Given the description of an element on the screen output the (x, y) to click on. 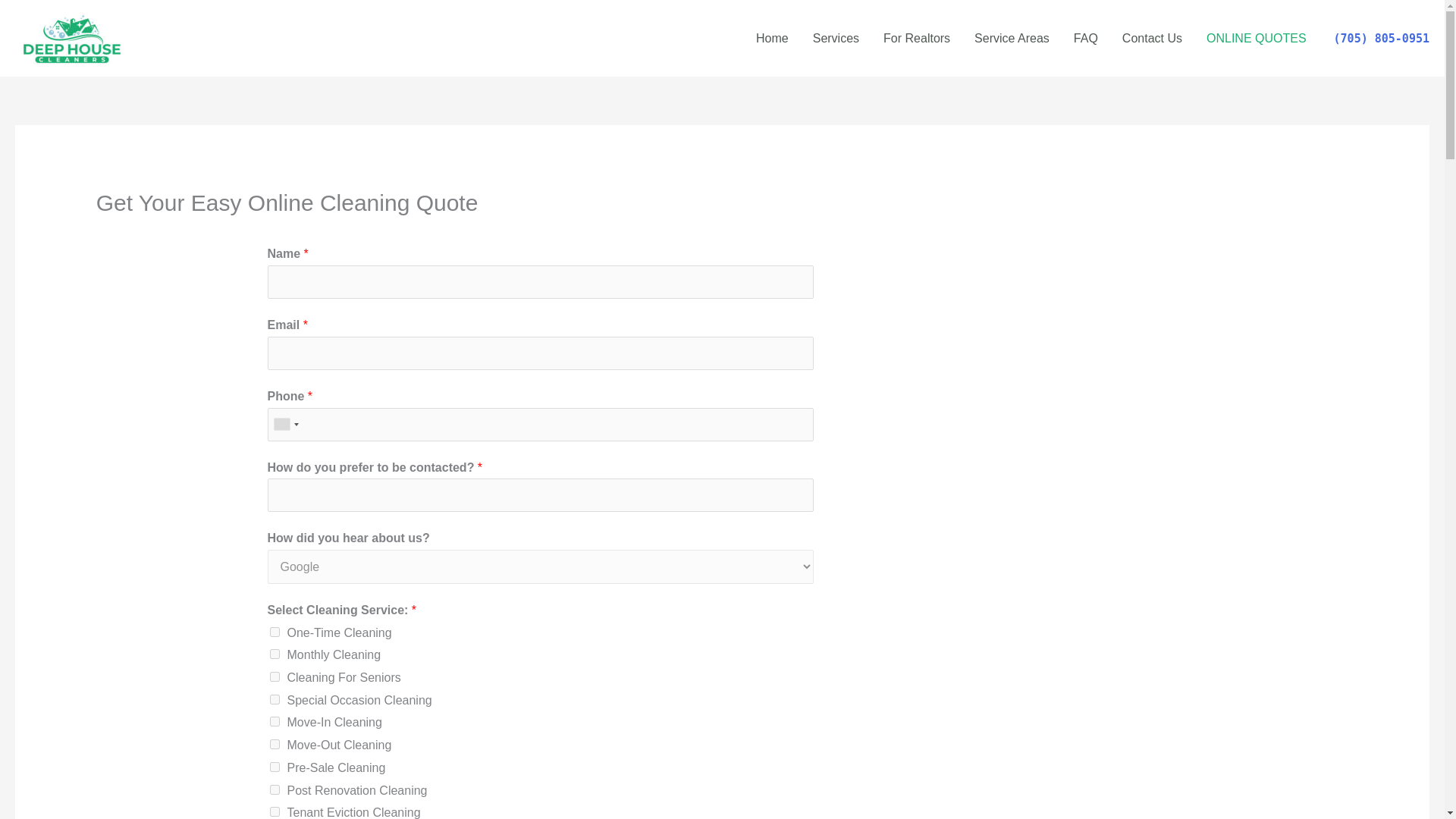
Move-In Cleaning (274, 721)
Home (772, 38)
Tenant Eviction Cleaning (274, 811)
Contact Us (1151, 38)
Move-Out Cleaning (274, 744)
Monthly Cleaning (274, 654)
Services (835, 38)
Pre-Sale Cleaning (274, 767)
Post Renovation Cleaning (274, 789)
Service Areas (1011, 38)
